Given the description of an element on the screen output the (x, y) to click on. 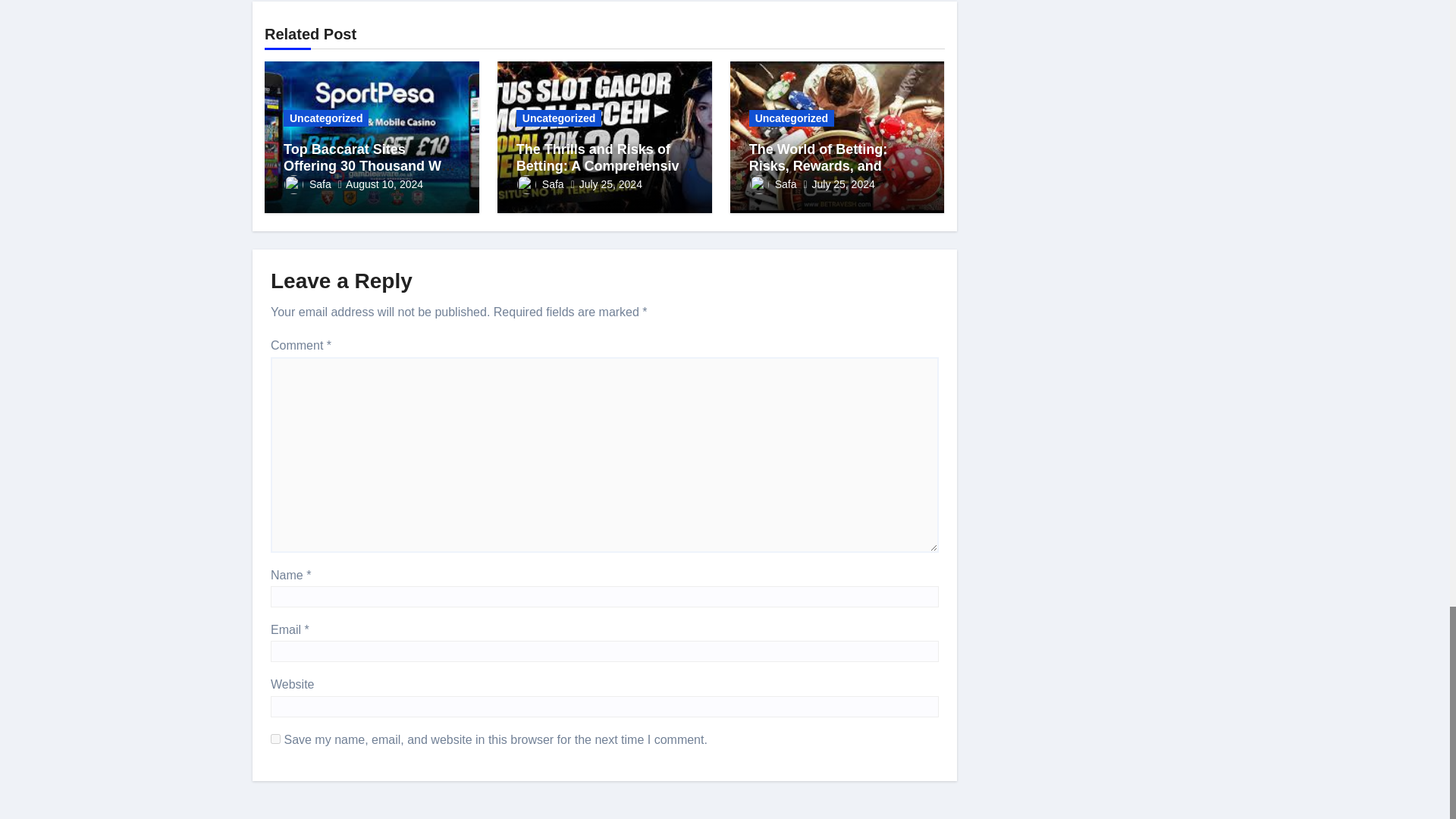
yes (275, 738)
Safa (307, 184)
Uncategorized (325, 117)
Top Baccarat Sites Offering 30 Thousand Won in Pocket Money (370, 165)
